Given the description of an element on the screen output the (x, y) to click on. 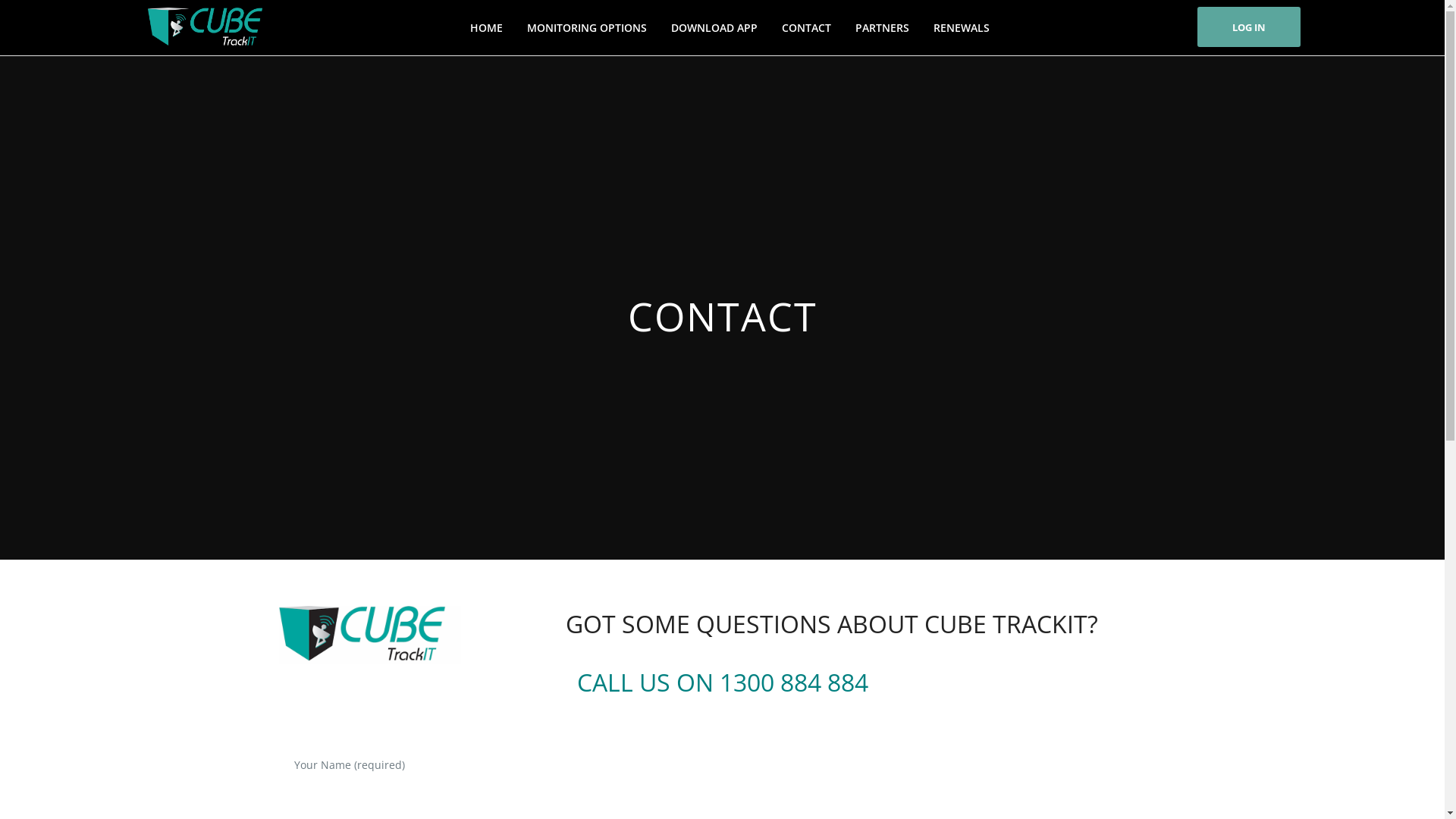
HOME Element type: text (486, 27)
MONITORING OPTIONS Element type: text (586, 27)
CONTACT Element type: text (806, 27)
PARTNERS Element type: text (881, 27)
DOWNLOAD APP Element type: text (714, 27)
LOG IN Element type: text (1247, 26)
RENEWALS Element type: text (961, 27)
